Given the description of an element on the screen output the (x, y) to click on. 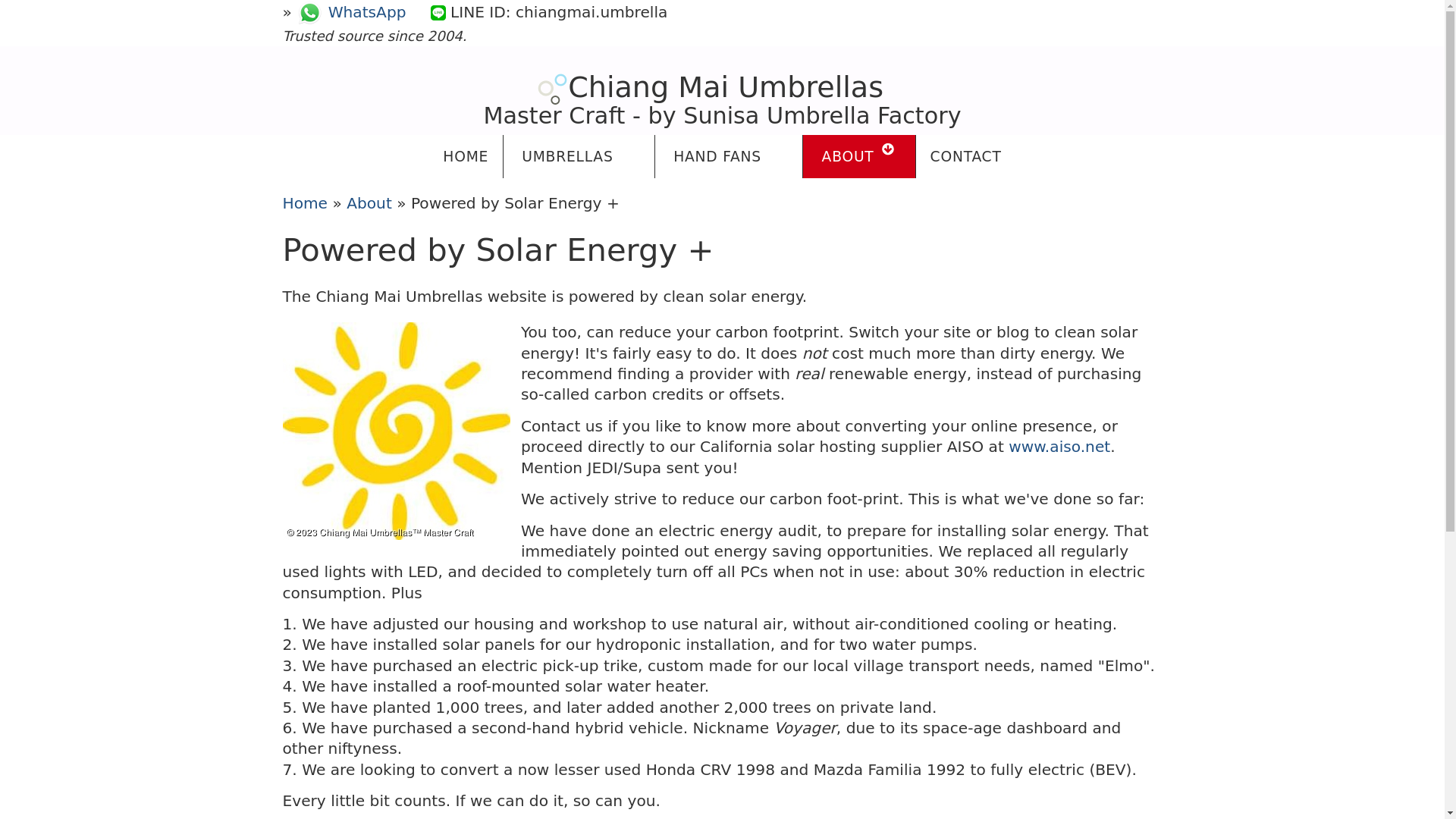
UMBRELLAS (578, 156)
HAND FANS (728, 156)
WhatsApp (351, 12)
HOME (465, 156)
www.aiso.net (1059, 446)
About (368, 203)
Chiang Mai Umbrellas (711, 87)
Home (304, 203)
ABOUT (859, 156)
CONTACT (965, 156)
